Given the description of an element on the screen output the (x, y) to click on. 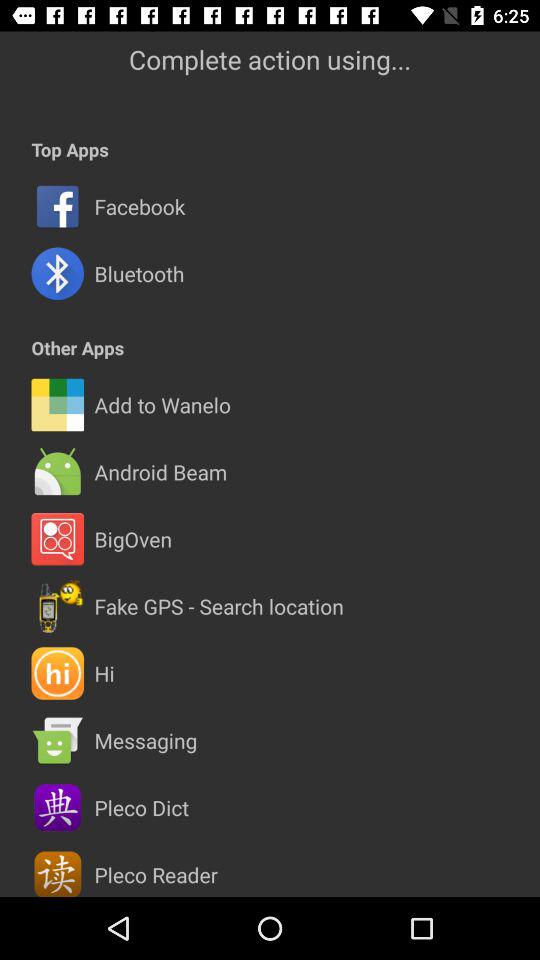
click on the image icon to the left of the text pleco dict (57, 808)
click on the message icon (57, 740)
select the image beside fake gps search location (57, 605)
